Given the description of an element on the screen output the (x, y) to click on. 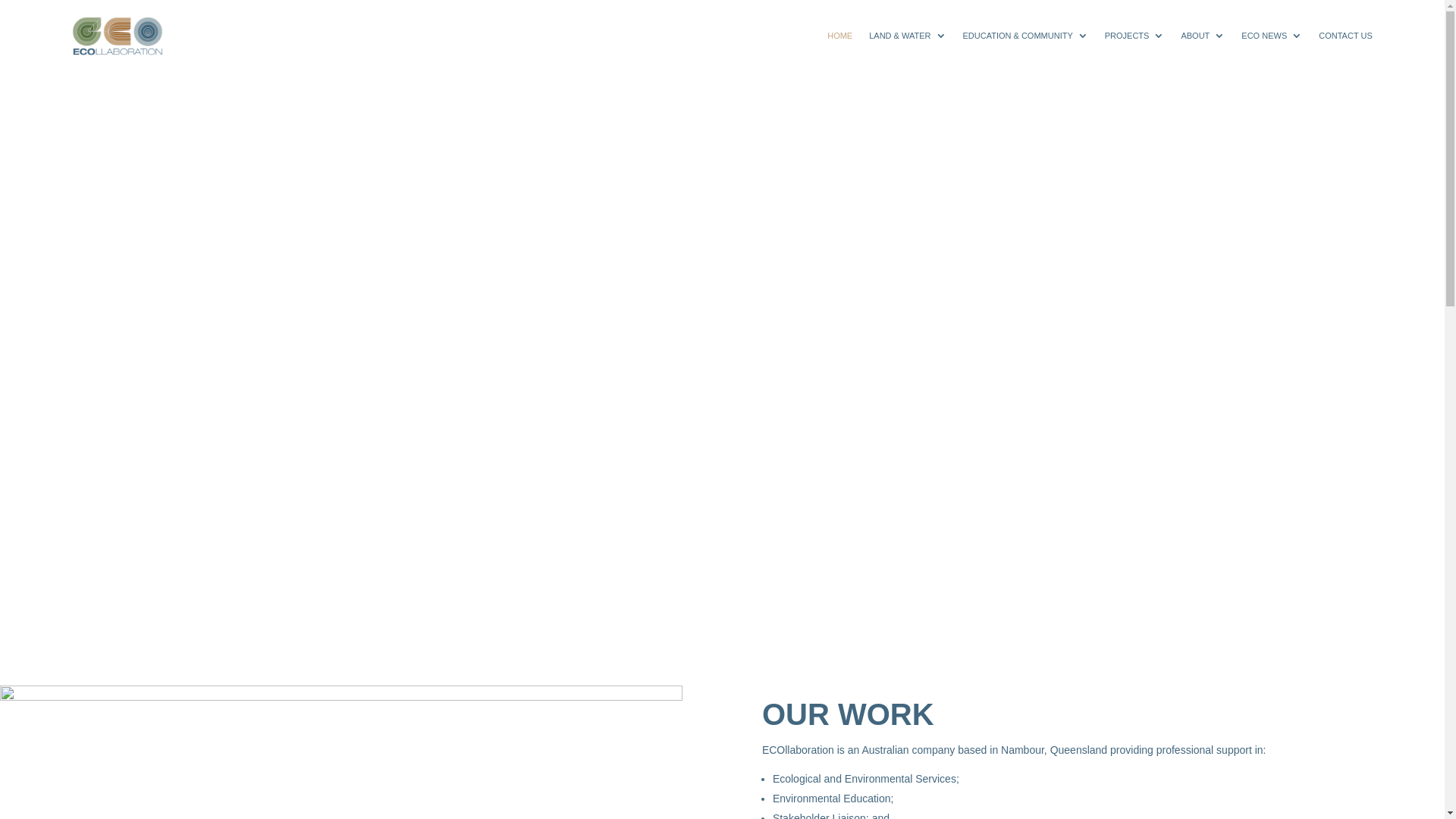
ECO NEWS Element type: text (1271, 35)
EDUCATION & COMMUNITY Element type: text (1025, 35)
LAND & WATER Element type: text (907, 35)
CONTACT US Element type: text (1345, 35)
ABOUT Element type: text (1202, 35)
HOME Element type: text (839, 35)
PROJECTS Element type: text (1134, 35)
